Given the description of an element on the screen output the (x, y) to click on. 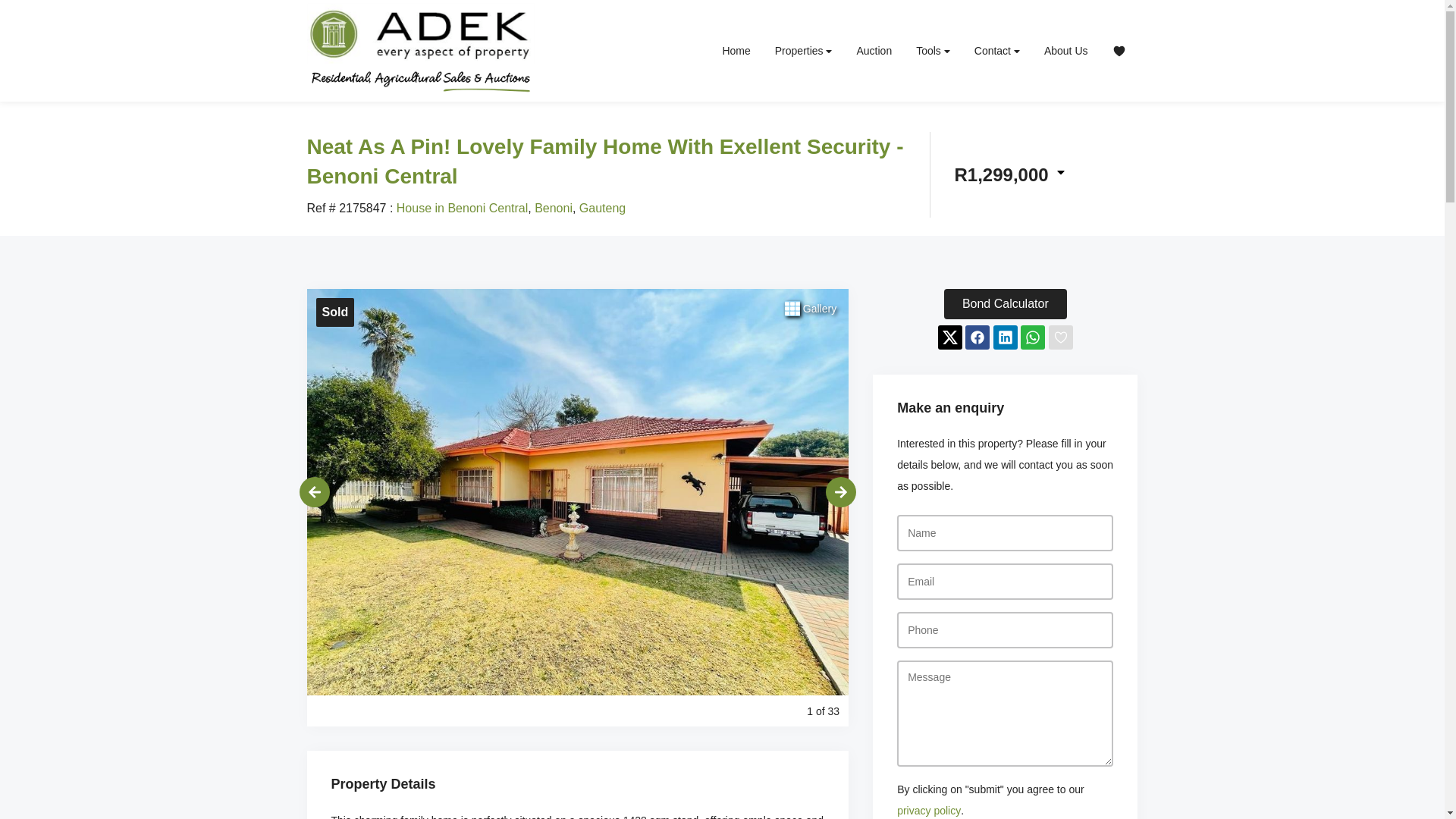
Auction (874, 50)
Gauteng (602, 208)
Bond Calculator (1005, 304)
Share to WhatsApp (1032, 337)
Property in Gauteng and Limpopo (419, 47)
Currency converter (1009, 175)
Share to X (949, 337)
Home (735, 50)
Share to LinkedIn (1004, 337)
About Us (1066, 50)
